Given the description of an element on the screen output the (x, y) to click on. 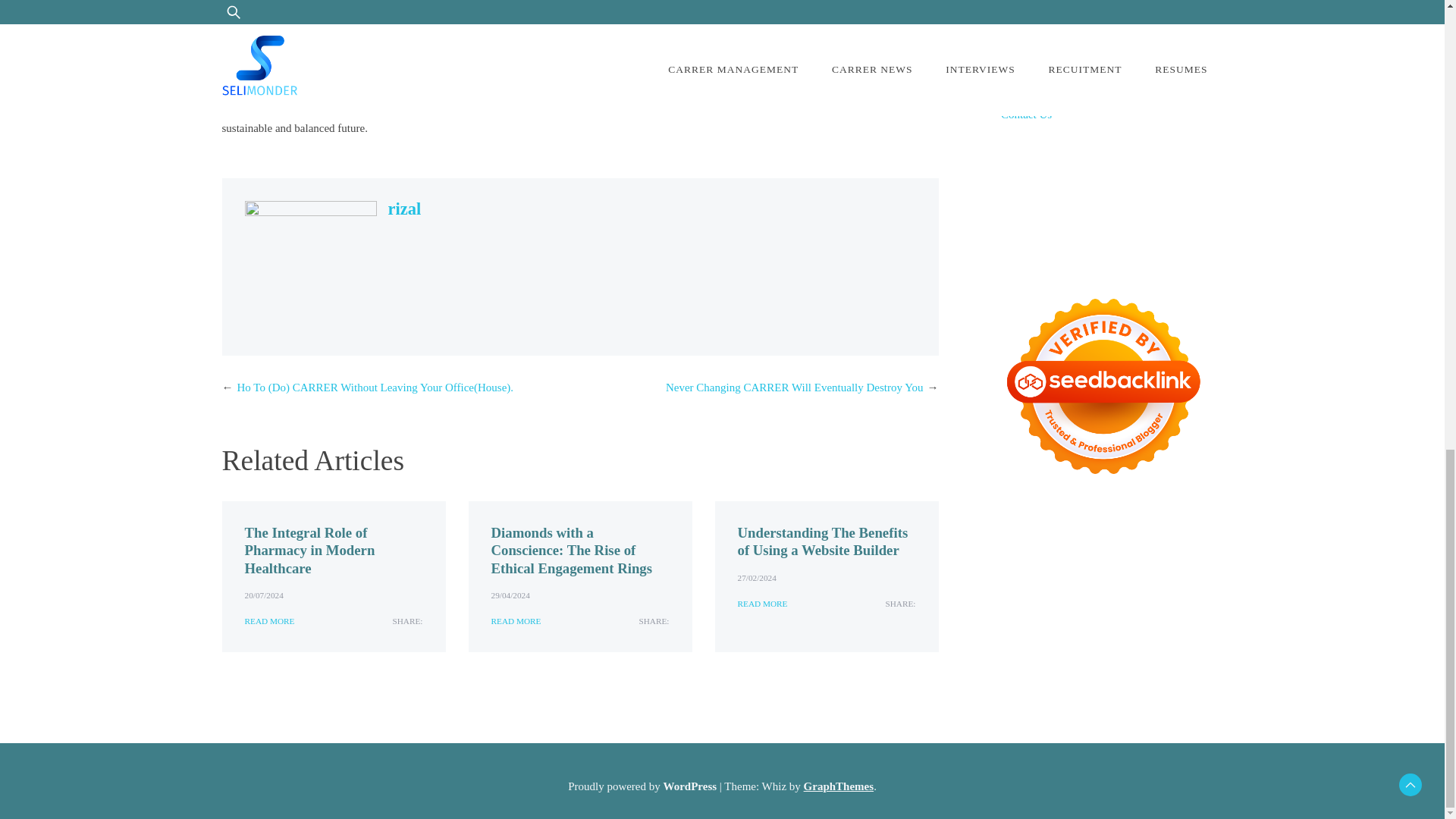
Never Changing CARRER Will Eventually Destroy You (794, 387)
The Integral Role of Pharmacy in Modern Healthcare (309, 550)
READ MORE (761, 603)
rizal (405, 208)
READ MORE (516, 621)
READ MORE (269, 621)
Understanding The Benefits of Using a Website Builder (821, 540)
Seedbacklink (1103, 386)
